Given the description of an element on the screen output the (x, y) to click on. 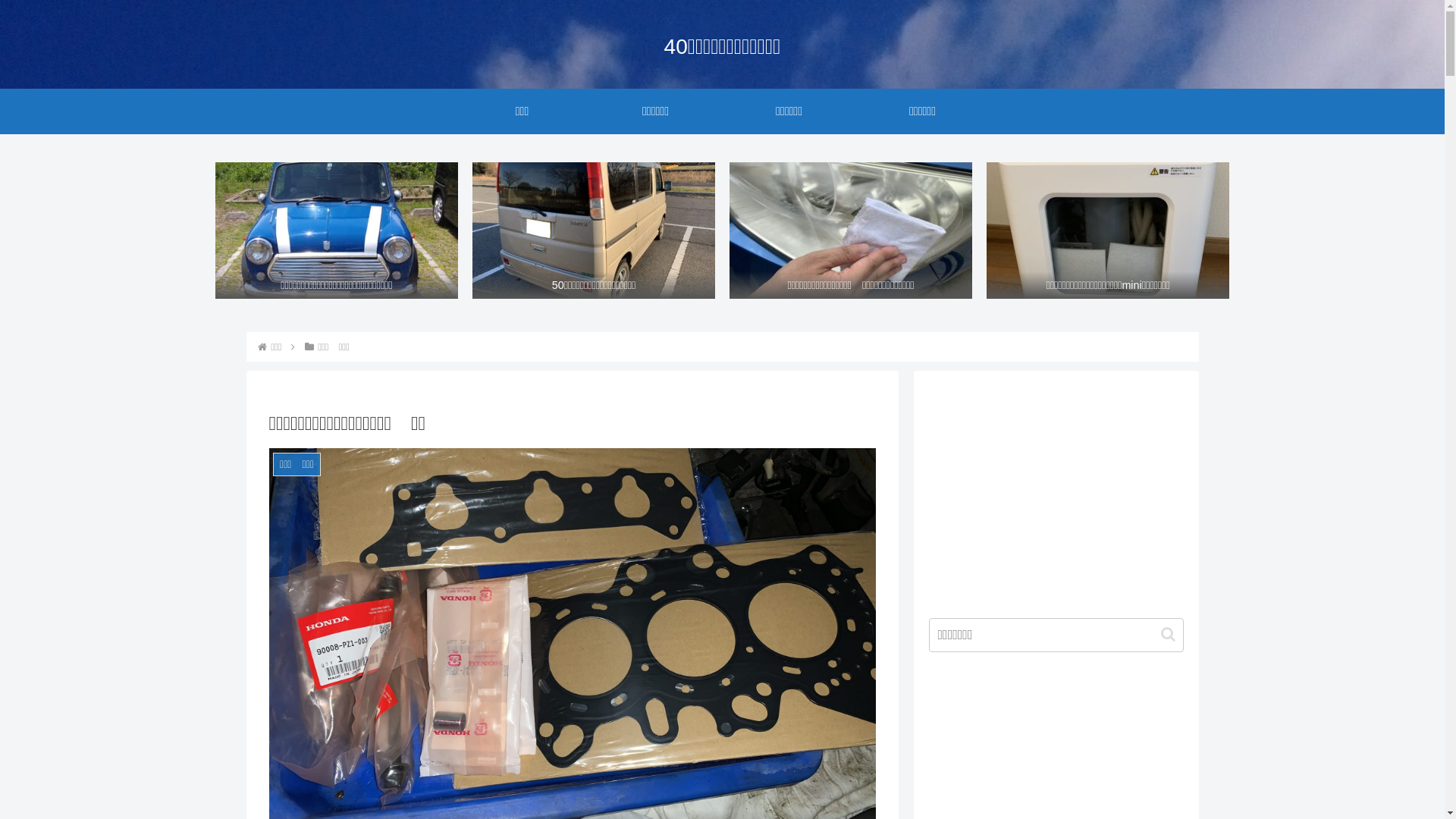
Advertisement Element type: hover (1055, 491)
